Given the description of an element on the screen output the (x, y) to click on. 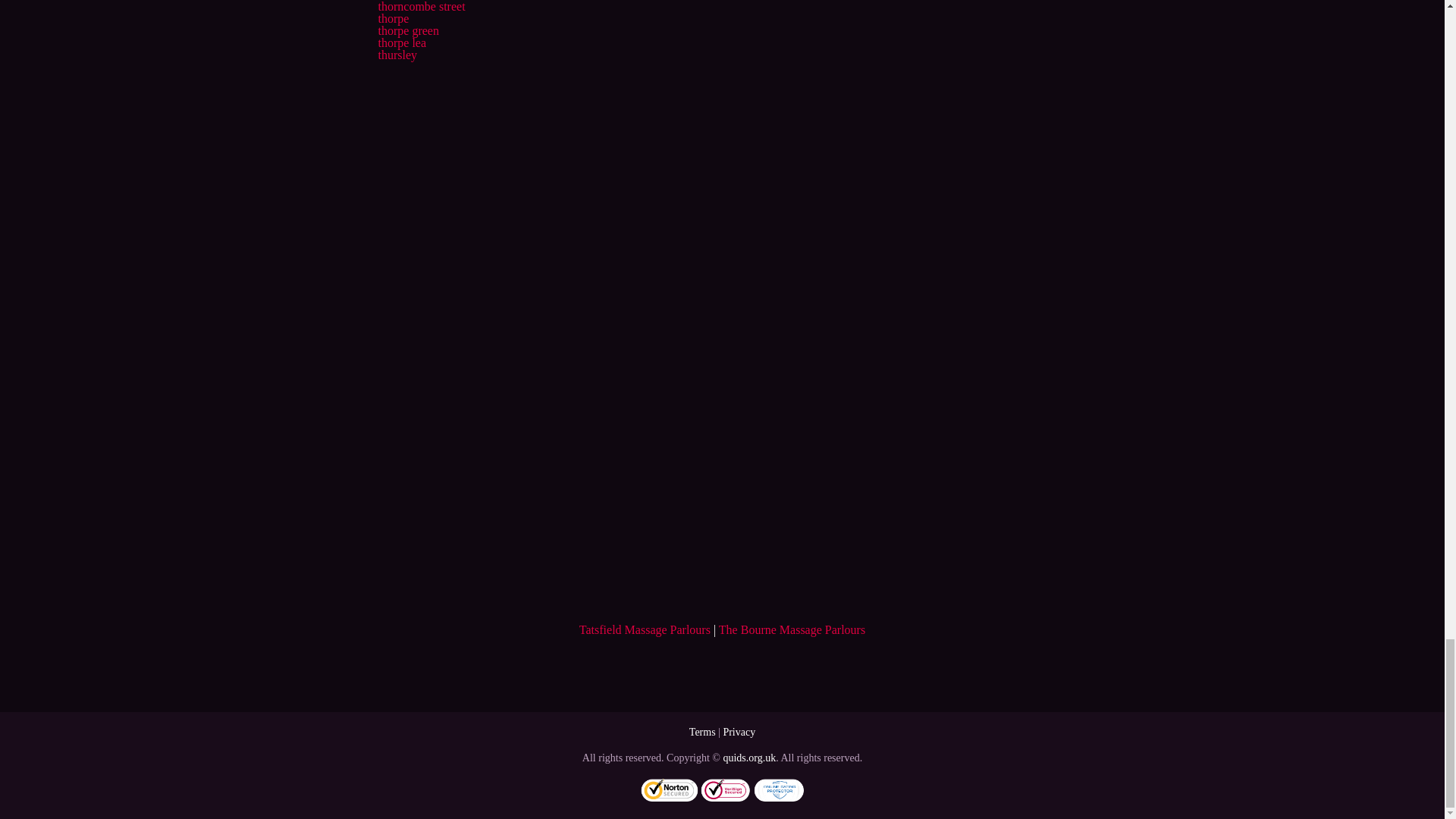
The Bourne Massage Parlours (791, 629)
quids.org.uk (749, 757)
Terms (702, 731)
Terms (702, 731)
the wells (398, 0)
thursley (396, 54)
thorpe green (407, 30)
Tatsfield Massage Parlours (644, 629)
Privacy (738, 731)
thorpe (393, 18)
